Given the description of an element on the screen output the (x, y) to click on. 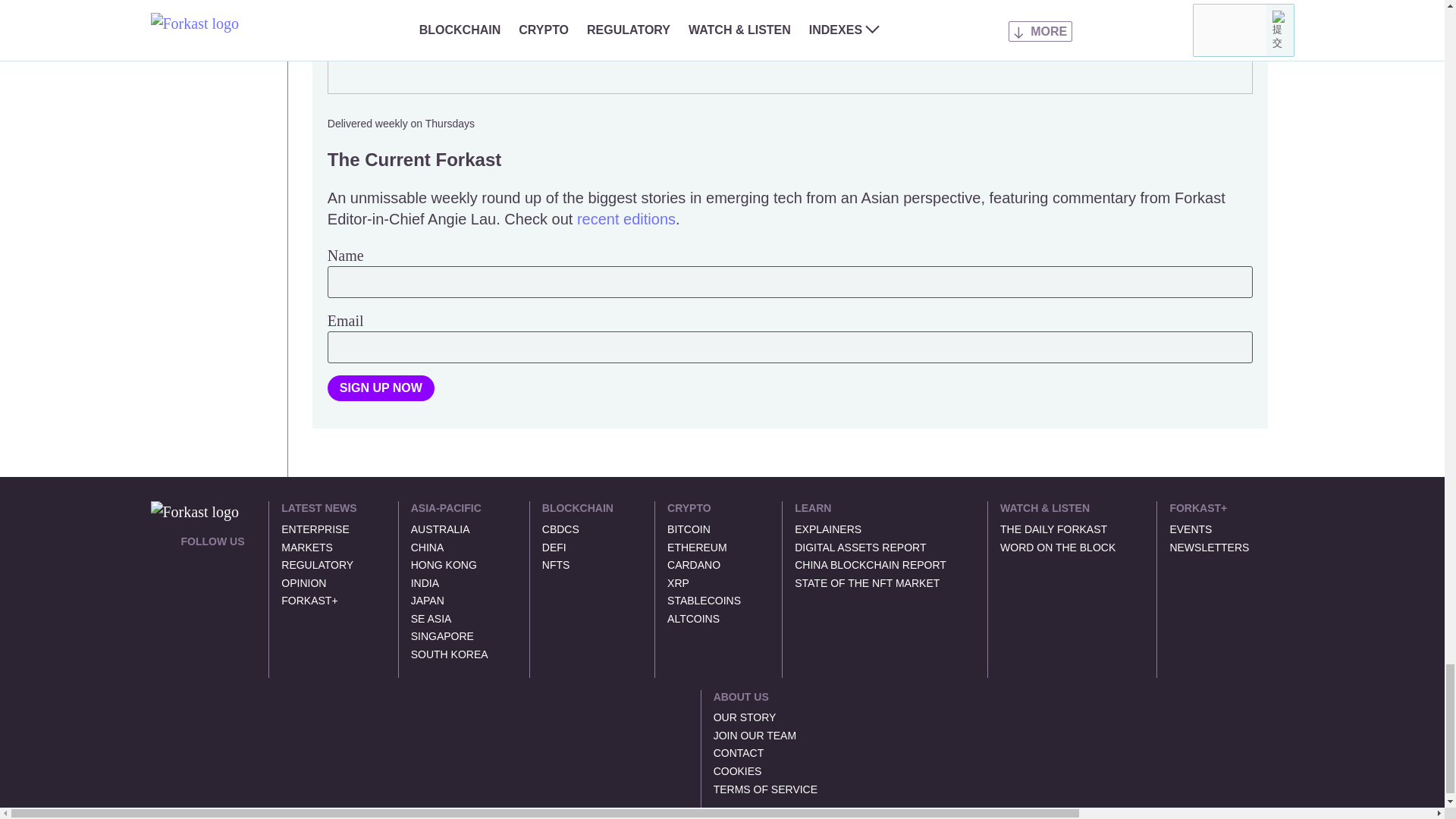
Forkast's profile on Instagram (186, 592)
Forkast's profile on Twitter (186, 562)
Forkast's profile on Facebook (222, 562)
Forkast's profile on LinkedIn (204, 562)
Sign up now (380, 388)
